Given the description of an element on the screen output the (x, y) to click on. 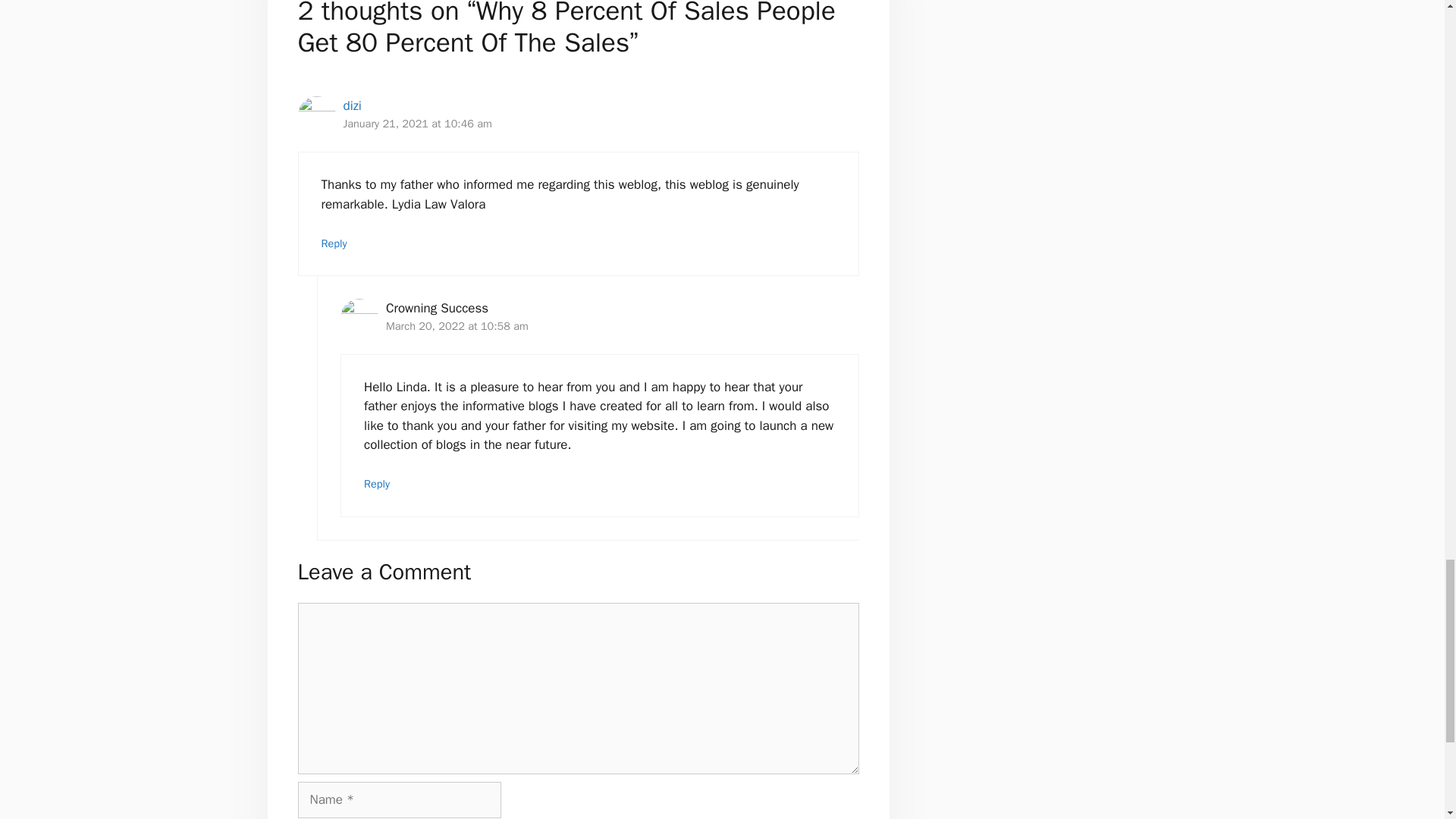
March 20, 2022 at 10:58 am (456, 325)
January 21, 2021 at 10:46 am (417, 123)
Reply (334, 243)
dizi (351, 105)
Reply (377, 483)
